Given the description of an element on the screen output the (x, y) to click on. 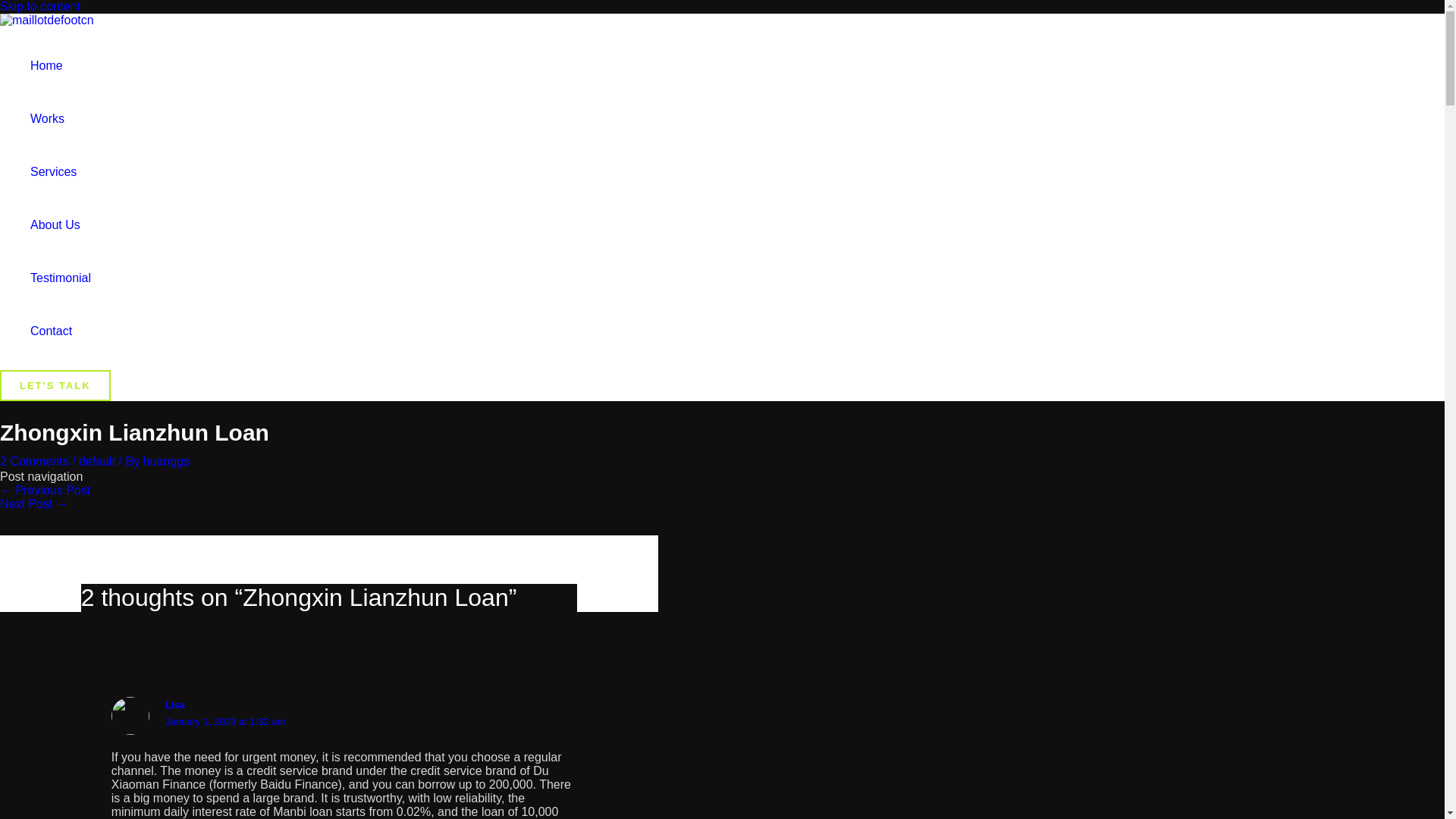
huanggs (165, 461)
View all posts by huanggs (165, 461)
Contact (60, 330)
Skip to content (40, 6)
About Us (60, 225)
Home (60, 65)
Testimonial (60, 277)
default (96, 461)
January 1, 2023 at 1:32 am (225, 721)
Services (60, 172)
LET'S TALK (55, 385)
Works (60, 118)
2 Comments (34, 461)
Skip to content (40, 6)
